Given the description of an element on the screen output the (x, y) to click on. 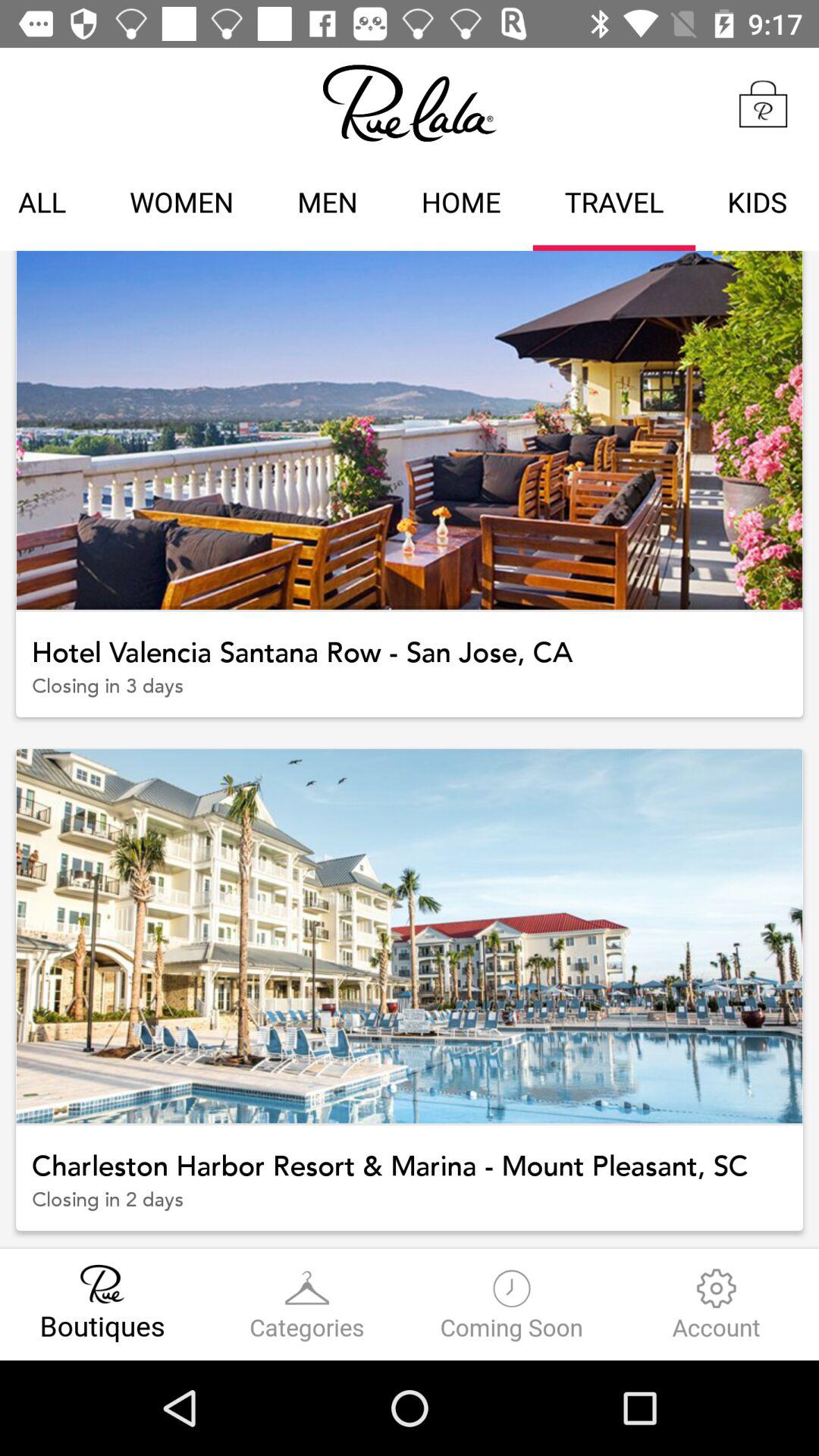
jump to travel (613, 204)
